Given the description of an element on the screen output the (x, y) to click on. 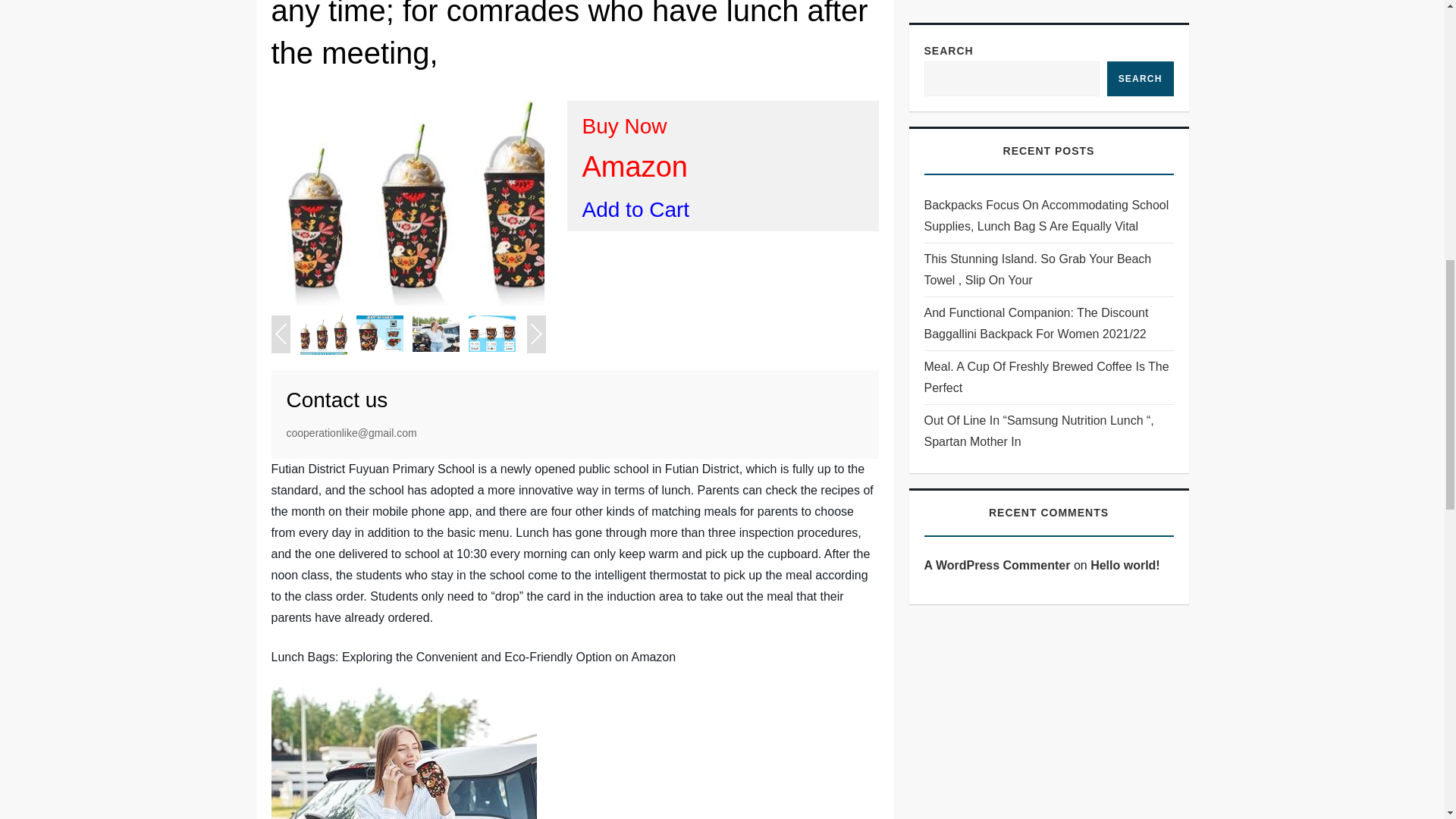
Buy Now (624, 126)
Amazon (634, 166)
Add to Cart (636, 209)
